Given the description of an element on the screen output the (x, y) to click on. 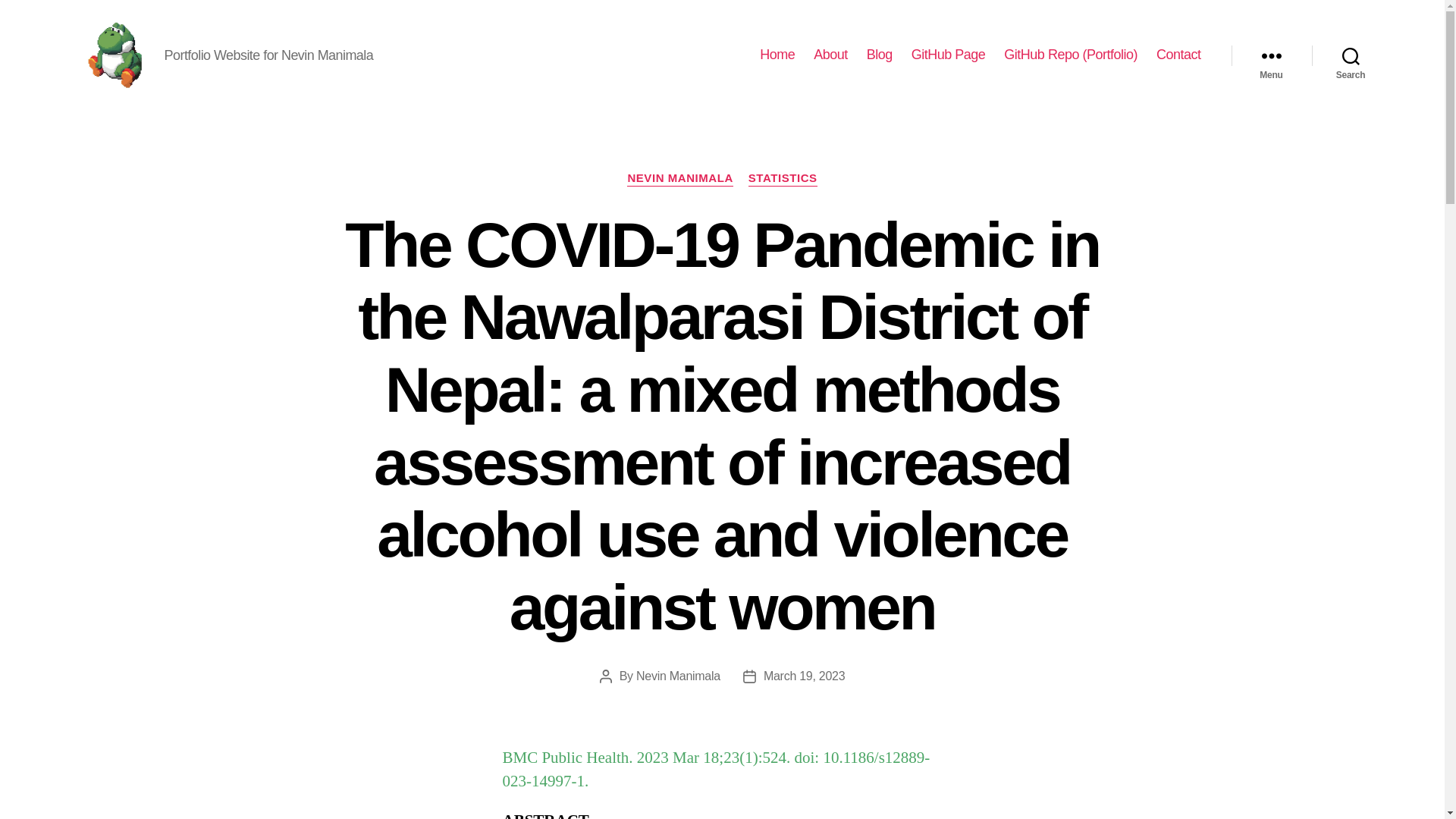
Search (1350, 55)
March 19, 2023 (803, 675)
Contact (1178, 54)
About (830, 54)
Nevin Manimala (678, 675)
STATISTICS (782, 178)
Blog (879, 54)
NEVIN MANIMALA (679, 178)
Menu (1271, 55)
Home (777, 54)
